Given the description of an element on the screen output the (x, y) to click on. 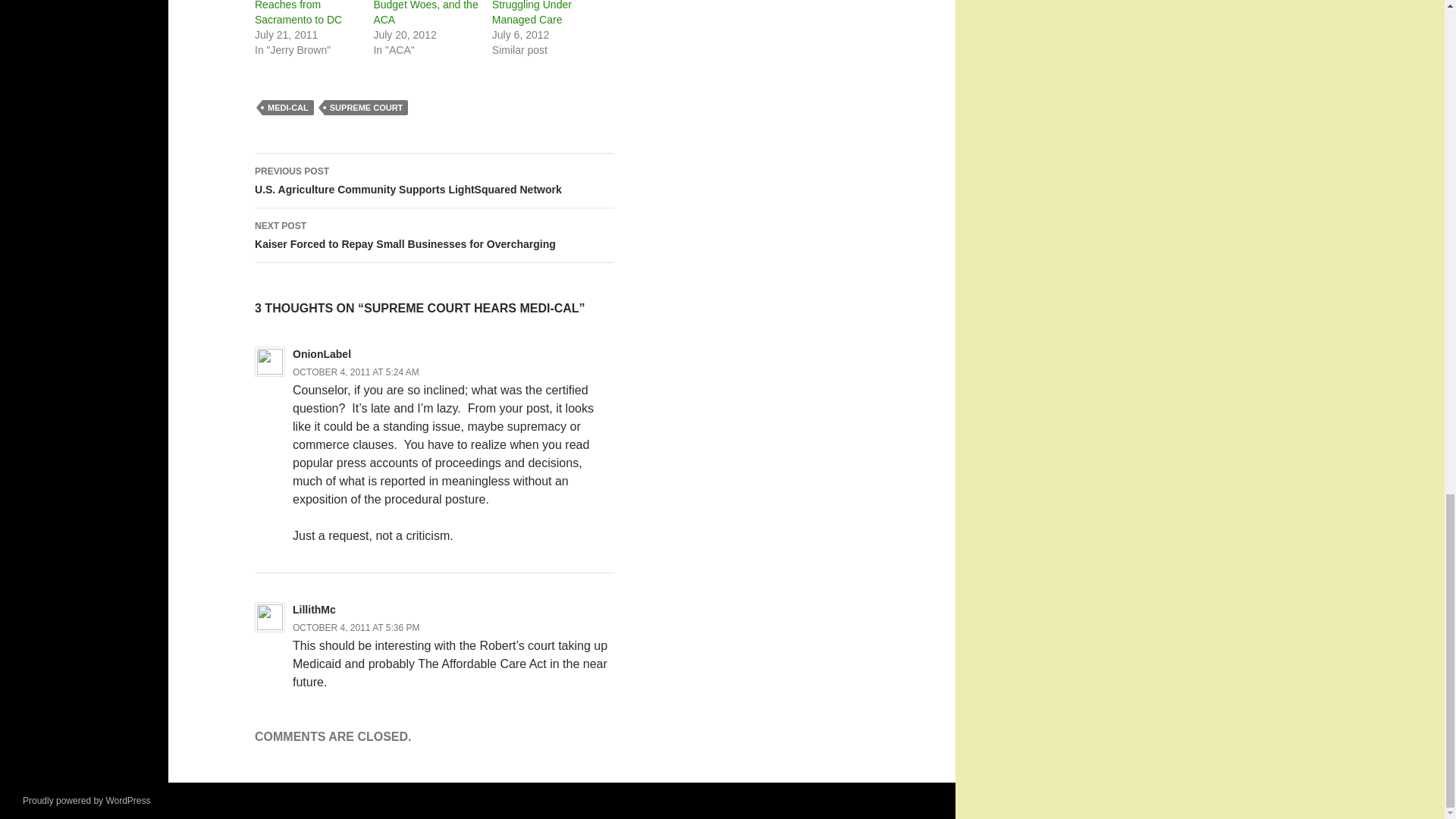
Medicaid Fight Reaches from Sacramento to DC (298, 12)
OCTOBER 4, 2011 AT 5:24 AM (355, 371)
Proudly powered by WordPress (87, 800)
Medicaid Fight Reaches from Sacramento to DC (298, 12)
OCTOBER 4, 2011 AT 5:36 PM (355, 627)
California Patients Struggling Under Managed Care (535, 12)
MEDI-CAL (288, 107)
Medi-Cal, California Budget Woes, and the ACA (424, 12)
SUPREME COURT (366, 107)
Medi-Cal, California Budget Woes, and the ACA (424, 12)
California Patients Struggling Under Managed Care (535, 12)
